Given the description of an element on the screen output the (x, y) to click on. 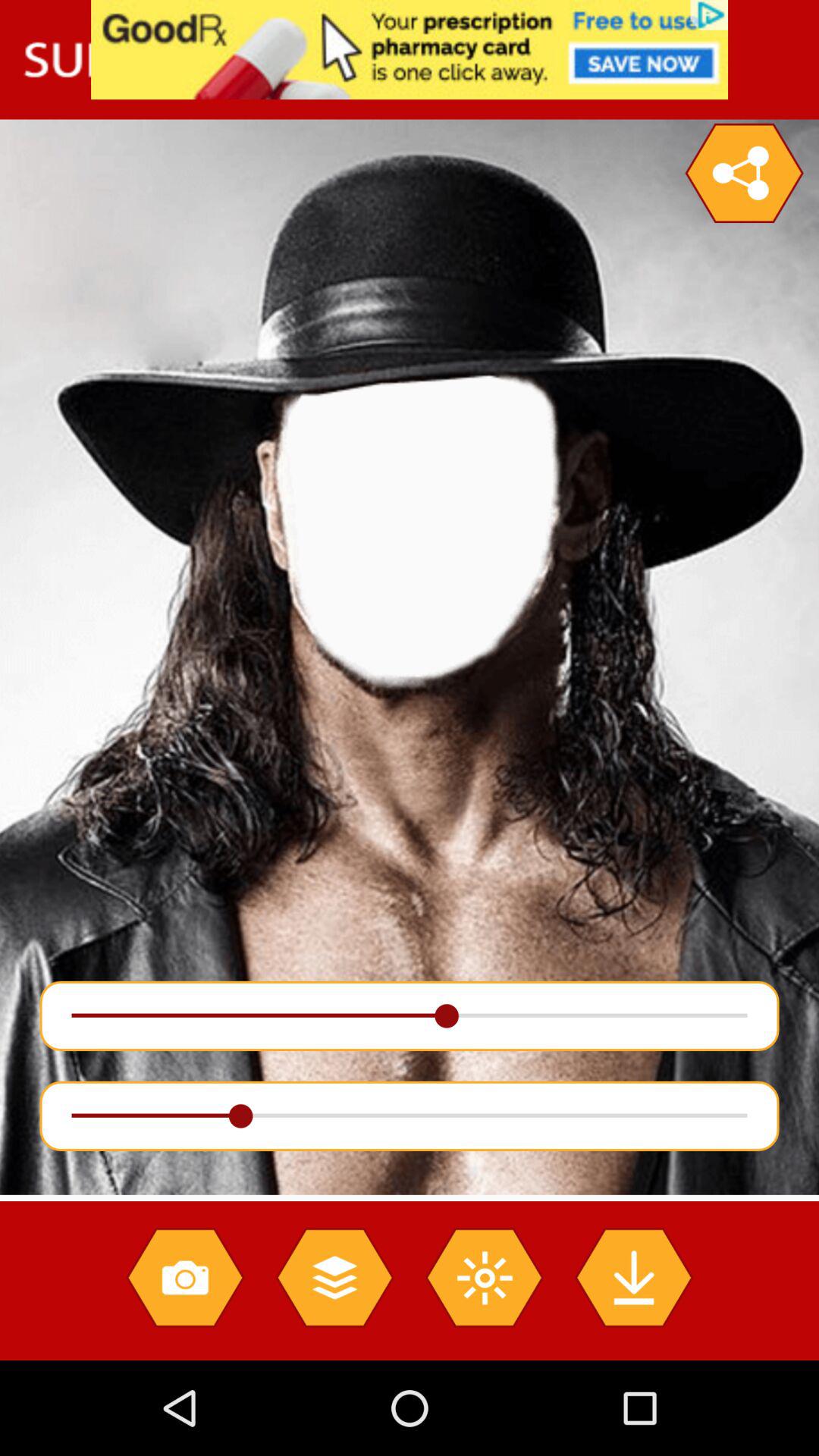
download page (633, 1277)
